Given the description of an element on the screen output the (x, y) to click on. 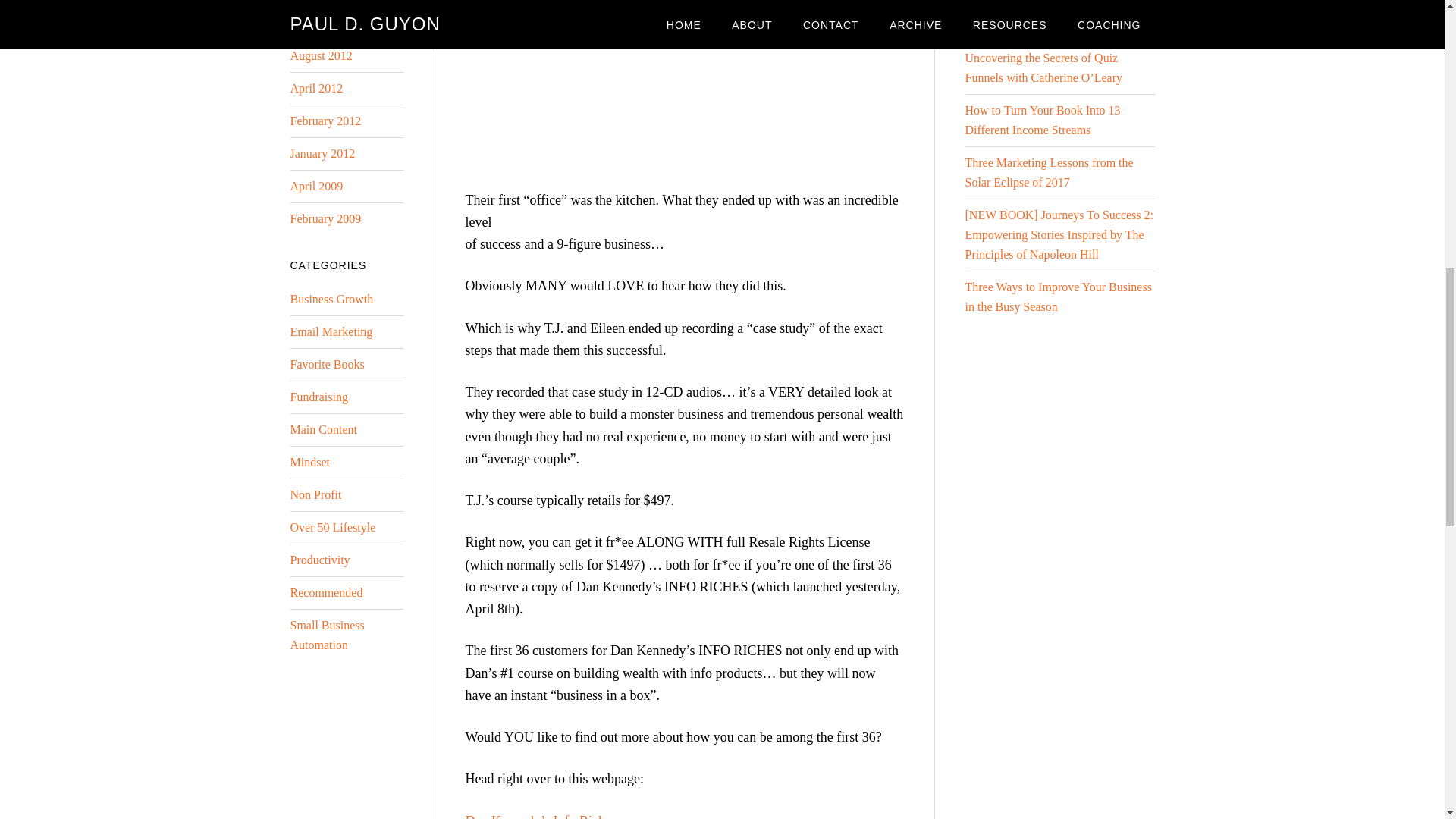
Three Ways to Improve Your Business in the Busy Season (1057, 296)
Three Marketing Lessons from the Solar Eclipse of 2017 (1047, 172)
How to Turn Your Book Into 13 Different Income Streams (1041, 120)
